Given the description of an element on the screen output the (x, y) to click on. 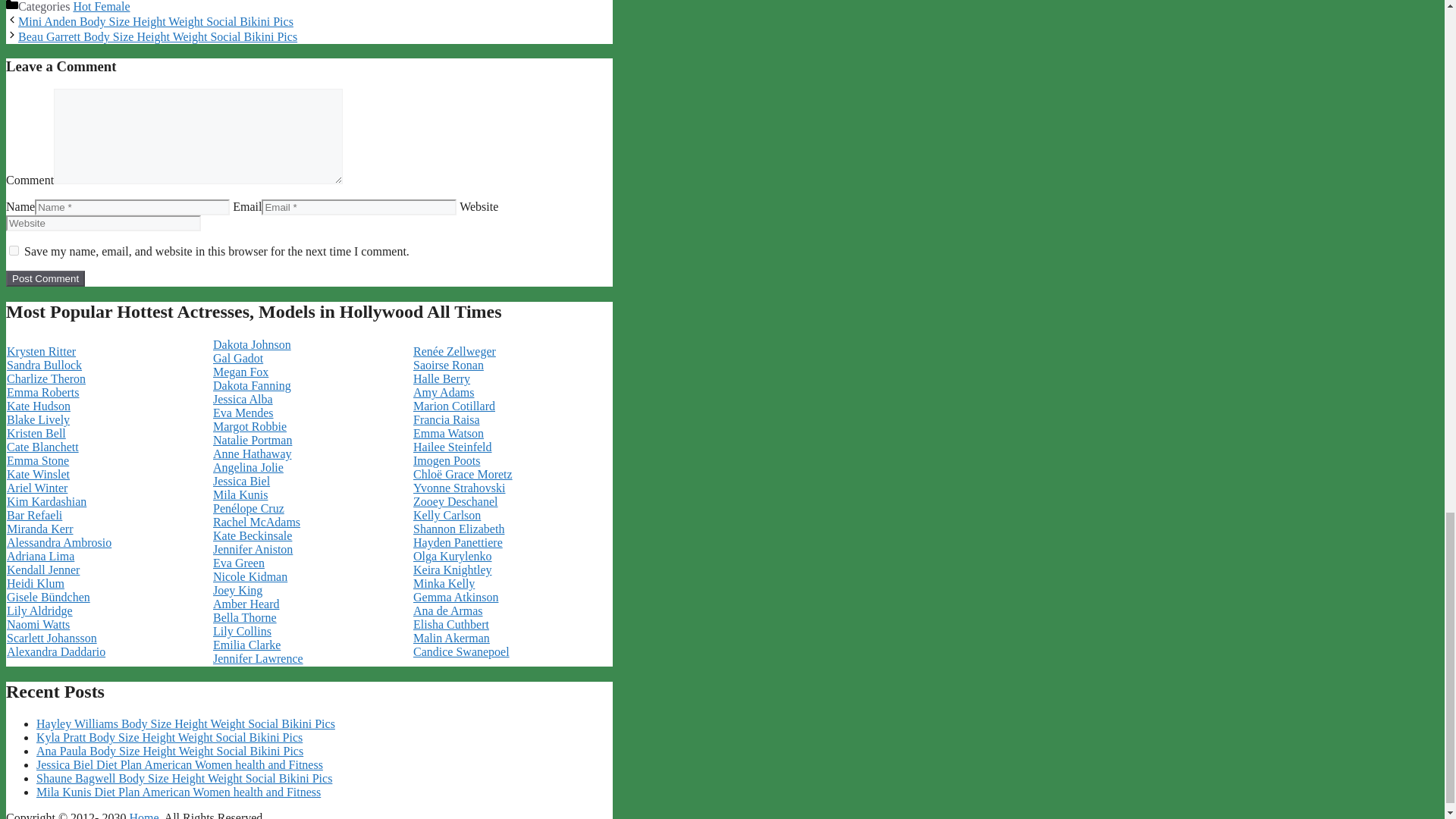
Charlize Theron (46, 378)
Lily Aldridge (39, 610)
Naomi Watts (38, 624)
Adriana Lima (40, 555)
Kristen Bell (36, 432)
Emma Stone (37, 460)
Kate Hudson (38, 405)
Alessandra Ambrosio (59, 542)
Krysten Ritter (41, 350)
Bar Refaeli (34, 514)
